Given the description of an element on the screen output the (x, y) to click on. 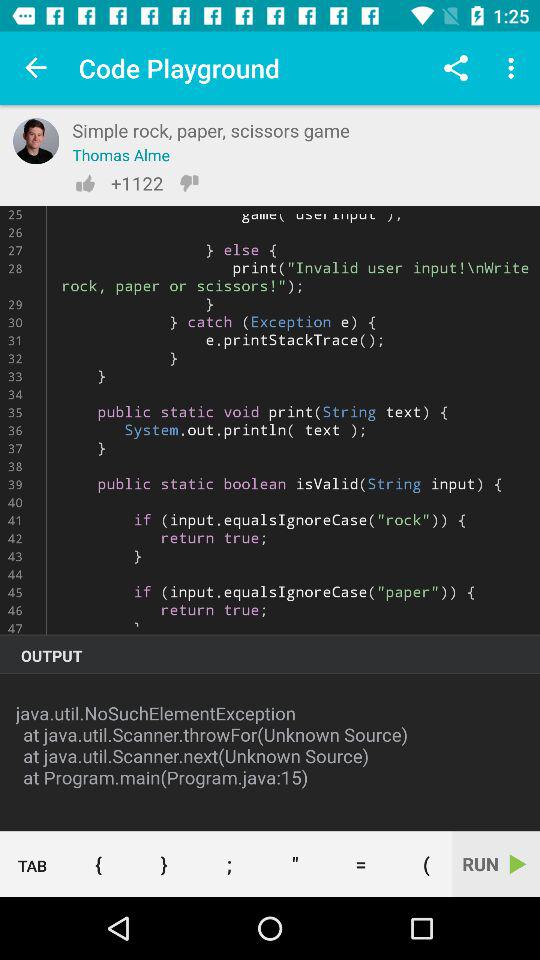
open profile page (36, 141)
